Given the description of an element on the screen output the (x, y) to click on. 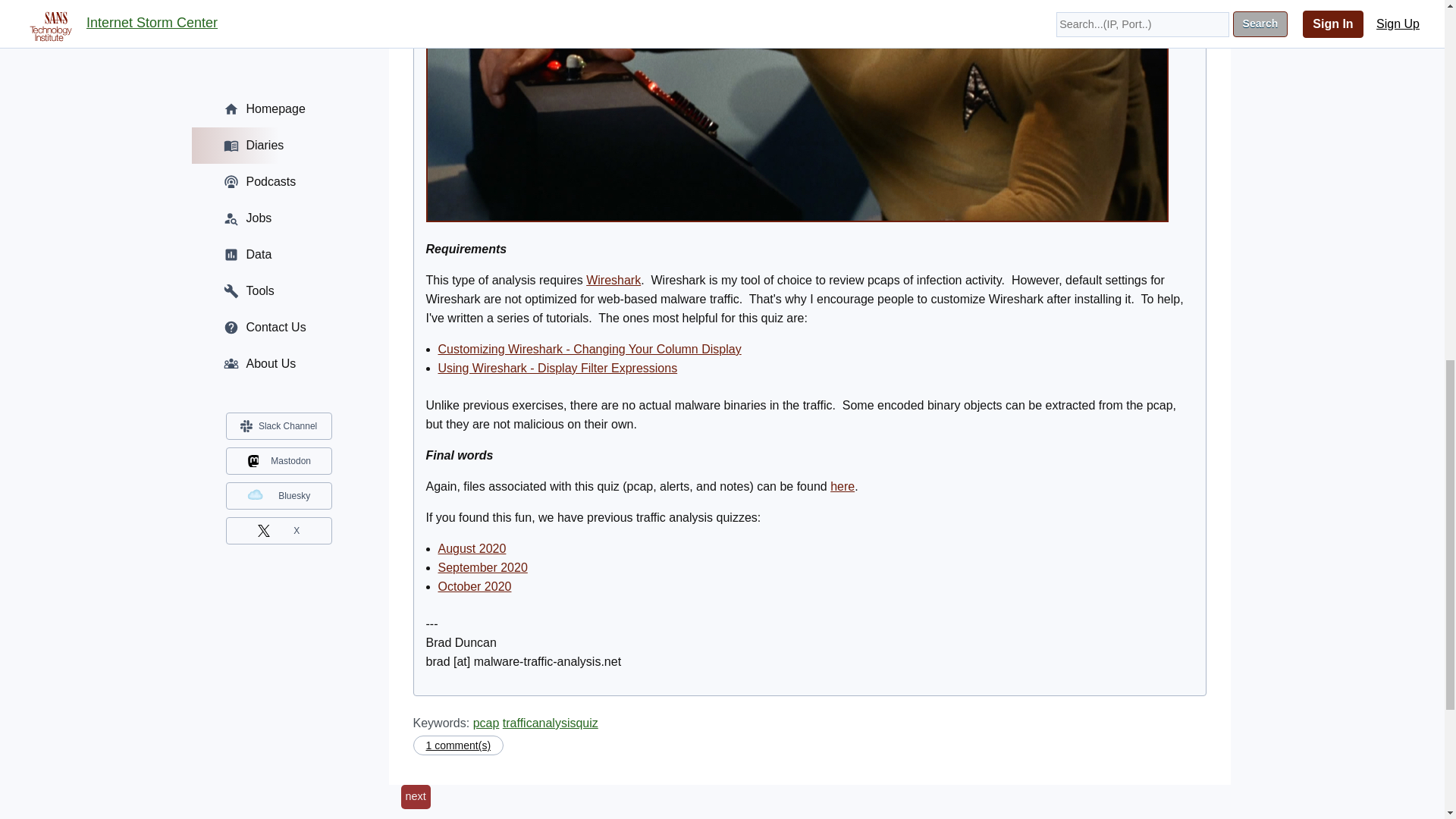
here (841, 486)
August 2020 (472, 548)
October 2020 (475, 585)
Wireshark (613, 279)
next (414, 796)
Using Wireshark - Display Filter Expressions (558, 367)
pcap (486, 722)
trafficanalysisquiz (550, 722)
September 2020 (482, 567)
Customizing Wireshark - Changing Your Column Display (589, 349)
